Given the description of an element on the screen output the (x, y) to click on. 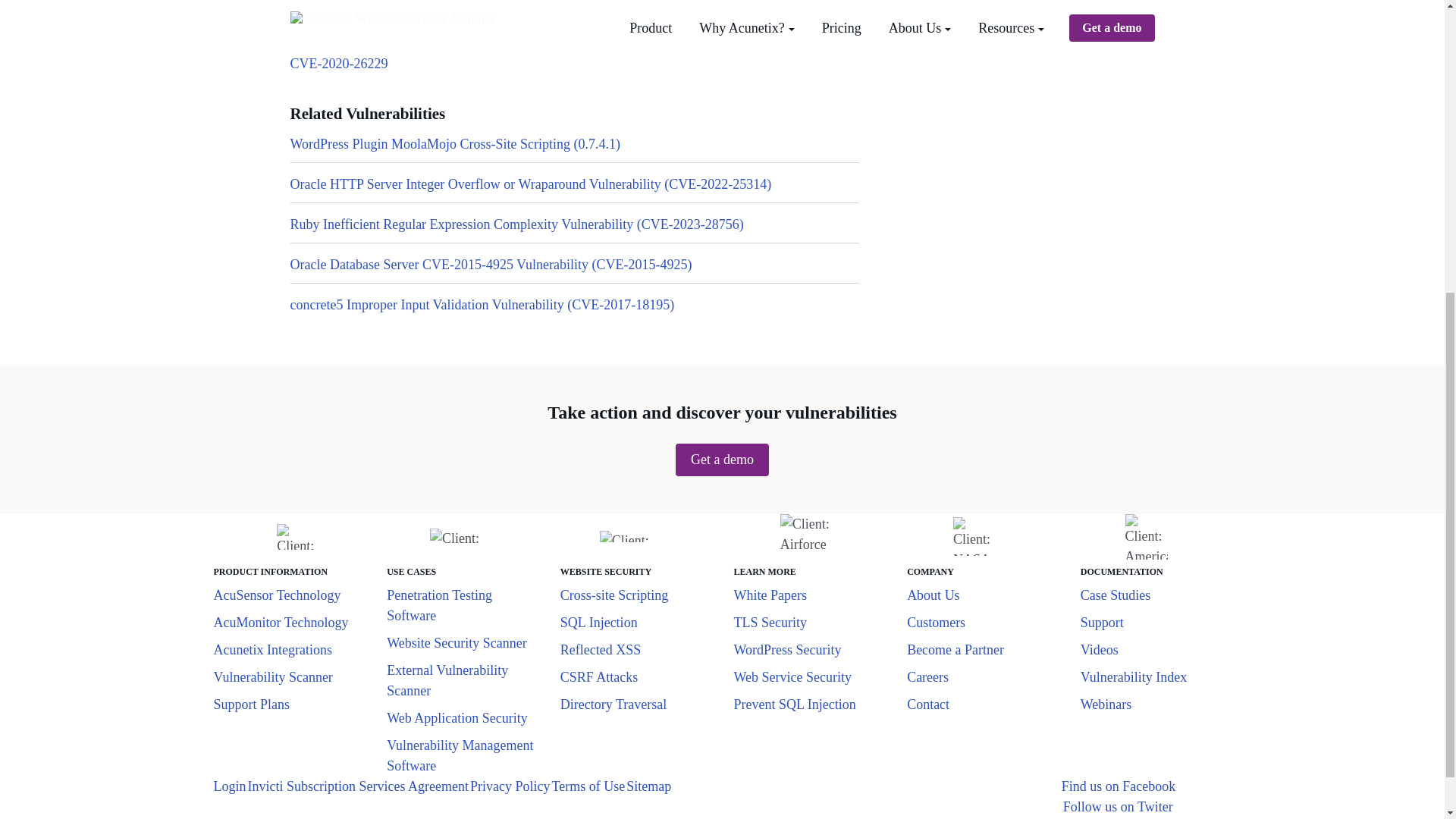
CVE-2020-26229 (338, 63)
Cross-site Scripting (614, 595)
Client: Airforce (807, 536)
Website Security Scanner (457, 642)
External Vulnerability Scanner (447, 680)
AcuSensor Technology (277, 595)
Client: AWS (297, 536)
Web Application Security (457, 717)
Client: Cognizant (467, 536)
Client: American Express (1146, 536)
Client: Garmin (637, 536)
Support Plans (251, 703)
AcuMonitor Technology (281, 622)
Penetration Testing Software (439, 605)
Vulnerability Management Software (459, 755)
